Given the description of an element on the screen output the (x, y) to click on. 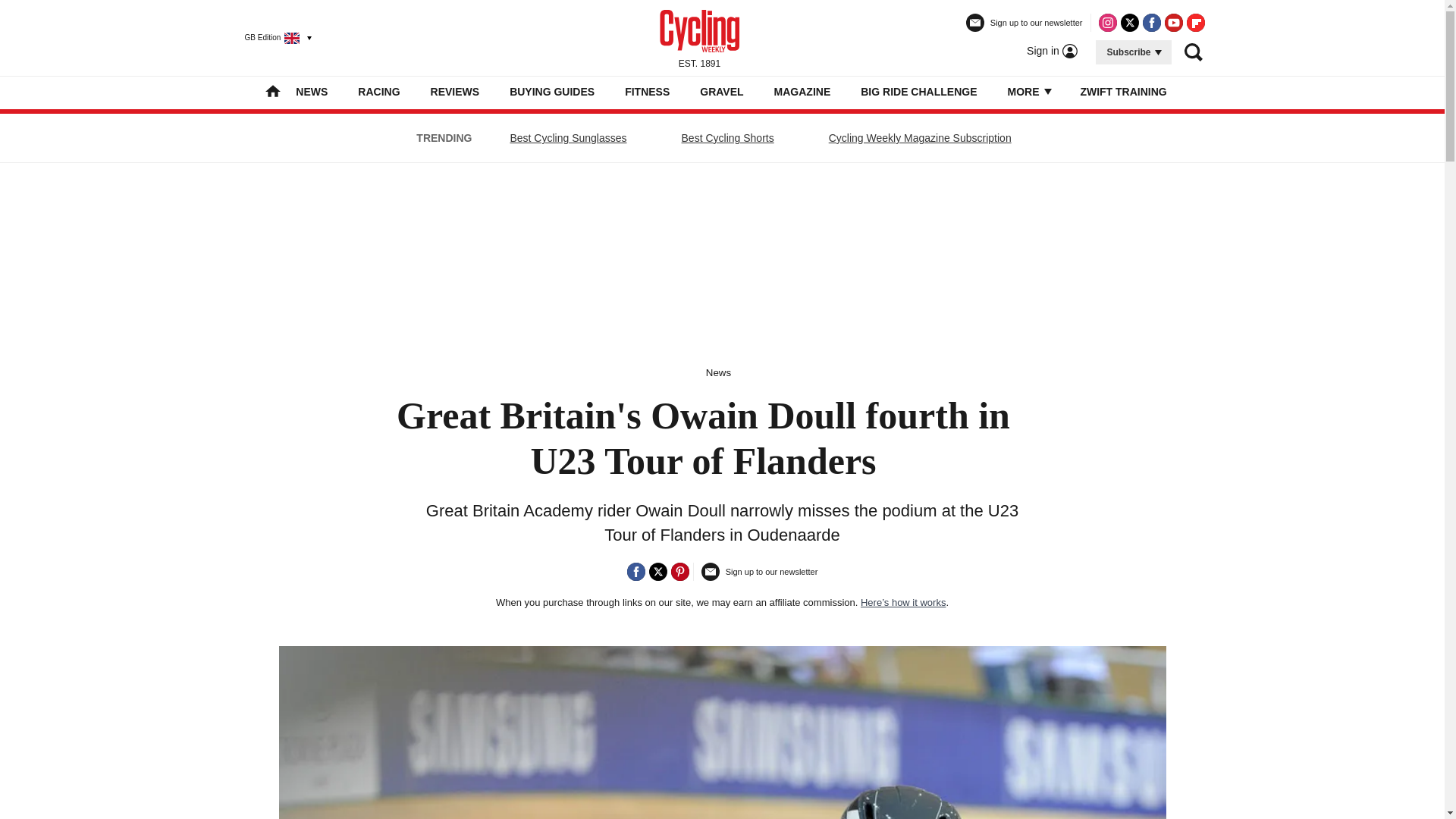
MAGAZINE (802, 91)
NEWS (311, 91)
News (718, 372)
REVIEWS (455, 91)
Sign up to our newsletter (1024, 28)
BUYING GUIDES (551, 91)
ZWIFT TRAINING (1123, 91)
GRAVEL (721, 91)
FITNESS (646, 91)
Best Cycling Shorts (727, 137)
